Given the description of an element on the screen output the (x, y) to click on. 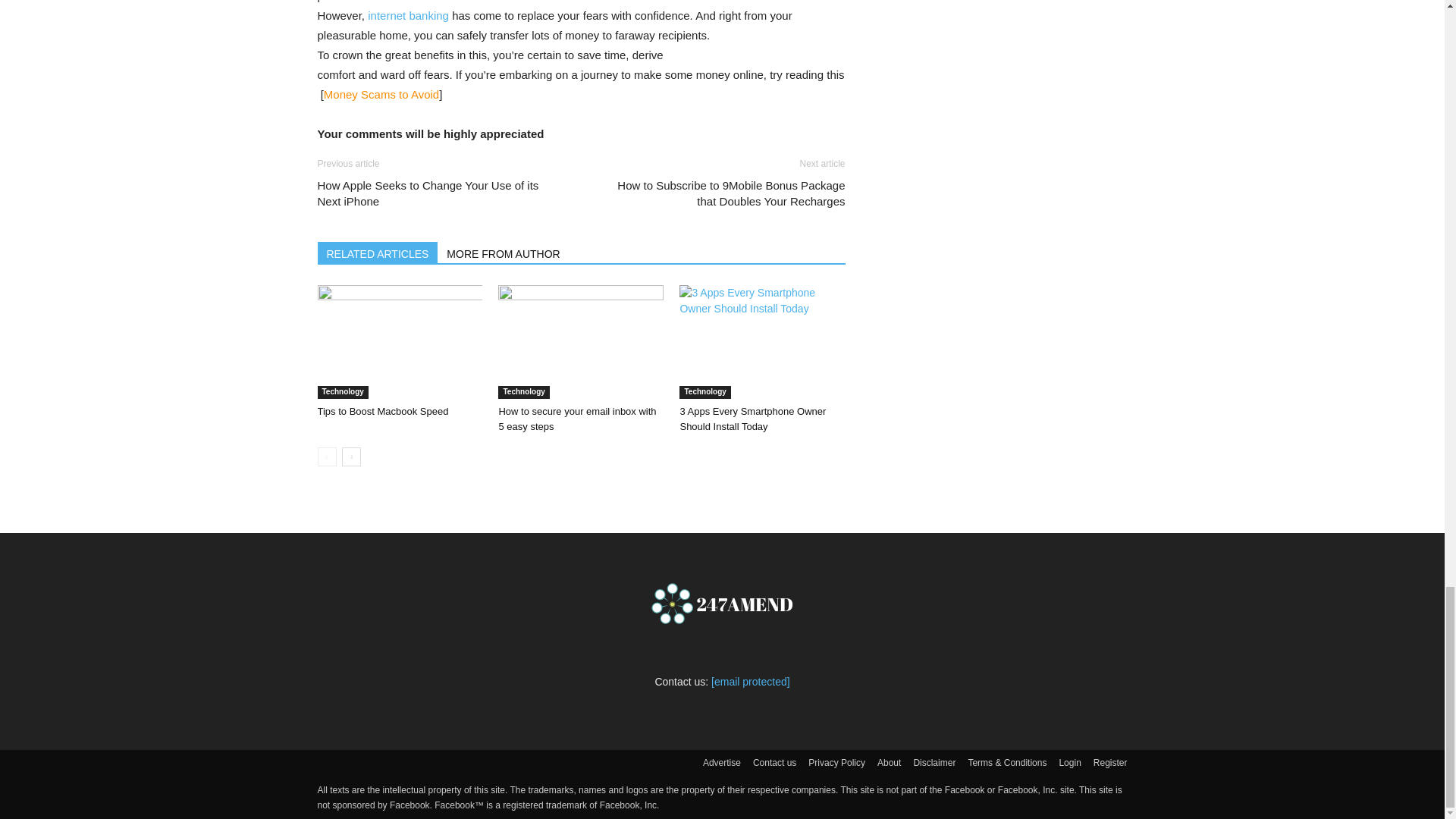
RELATED ARTICLES (377, 251)
internet banking (409, 15)
Money Scams to Avoid (381, 93)
Tips to Boost Macbook Speed (382, 410)
Tips to Boost Macbook Speed (399, 341)
3 Apps Every Smartphone Owner Should Install Today (761, 341)
MORE FROM AUTHOR (503, 251)
How Apple Seeks to Change Your Use of its Next iPhone (439, 193)
How to secure your email inbox with 5 easy steps (580, 341)
